Given the description of an element on the screen output the (x, y) to click on. 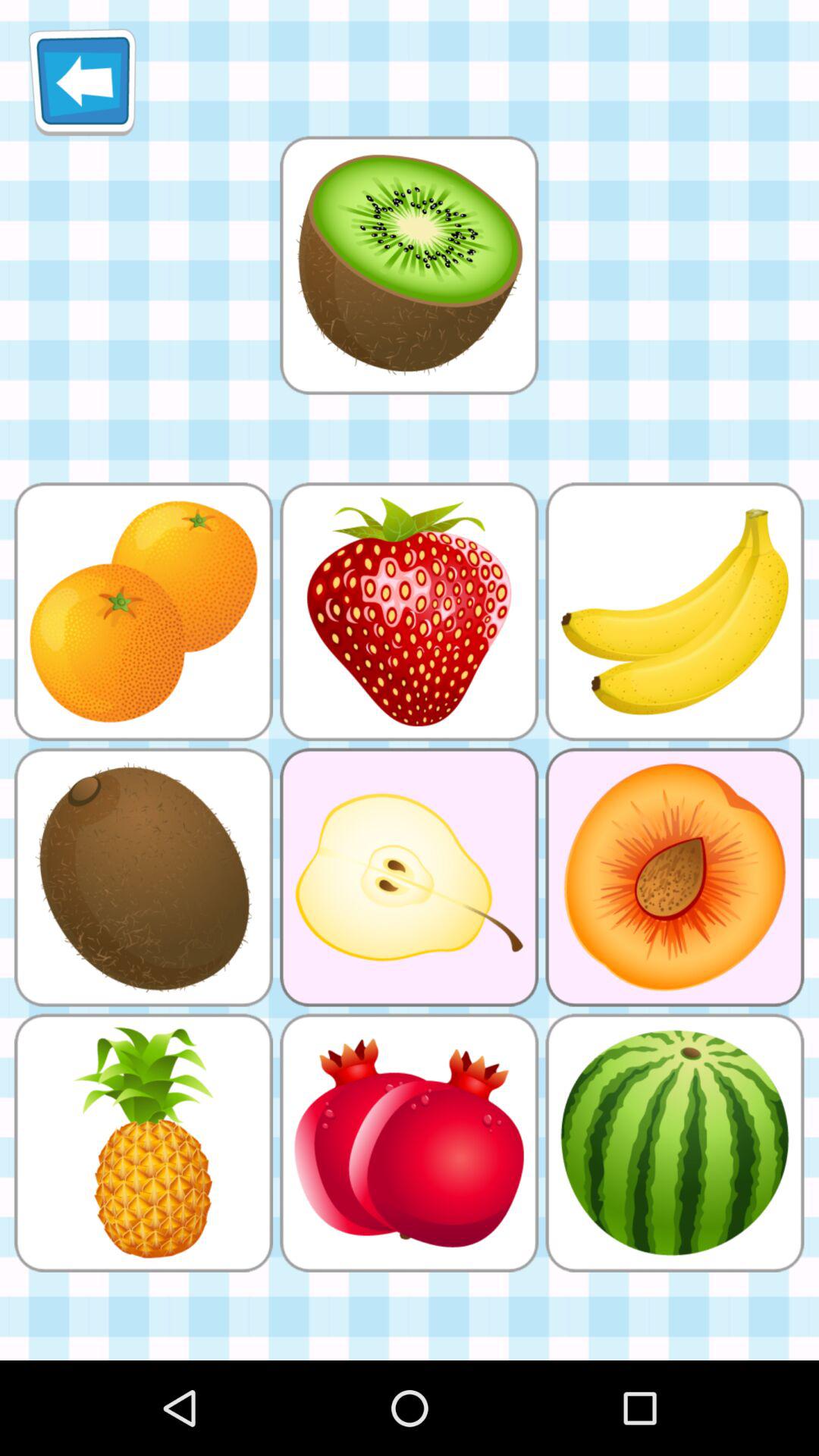
select kiwifruit (409, 265)
